Given the description of an element on the screen output the (x, y) to click on. 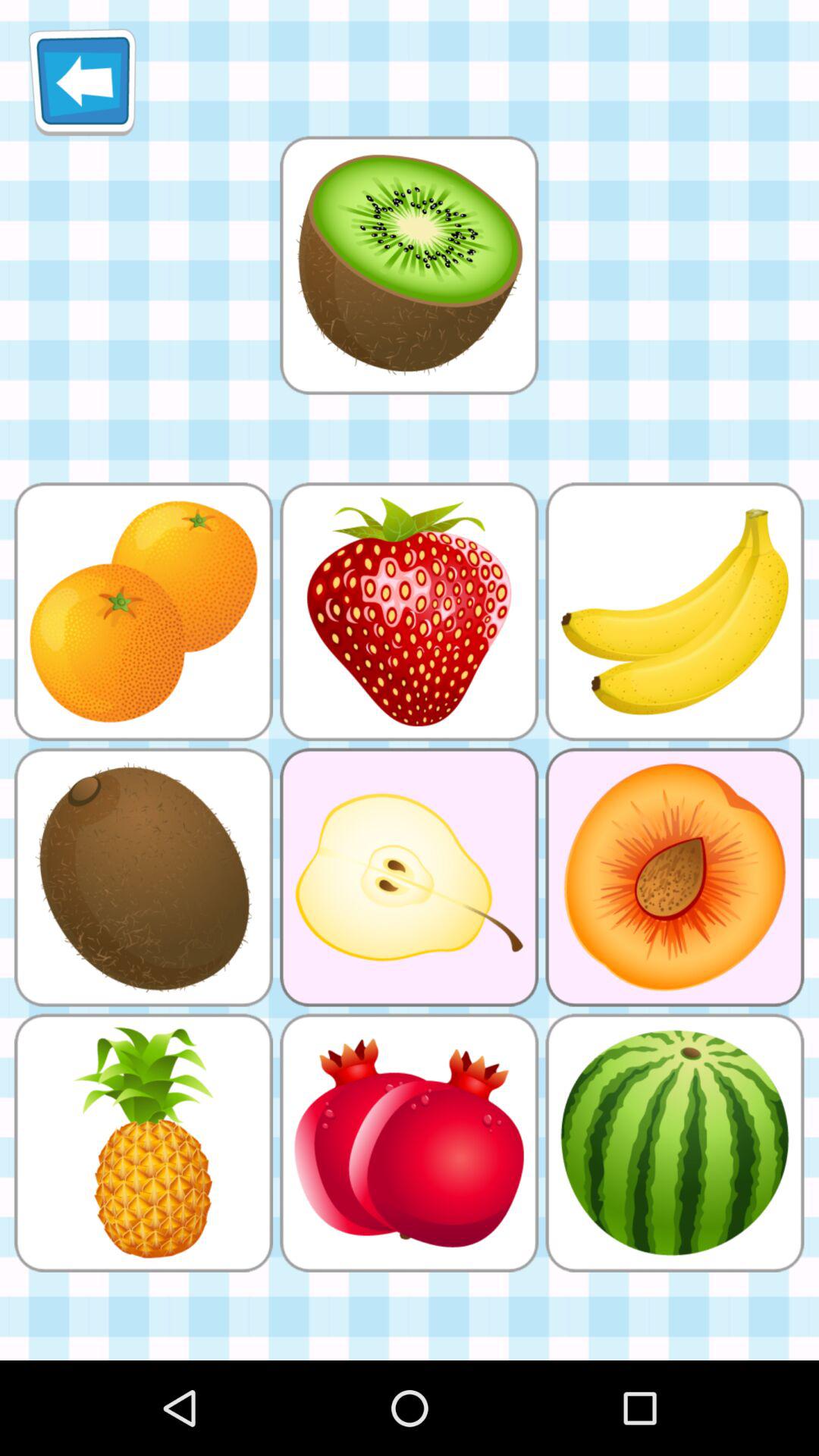
select kiwifruit (409, 265)
